Given the description of an element on the screen output the (x, y) to click on. 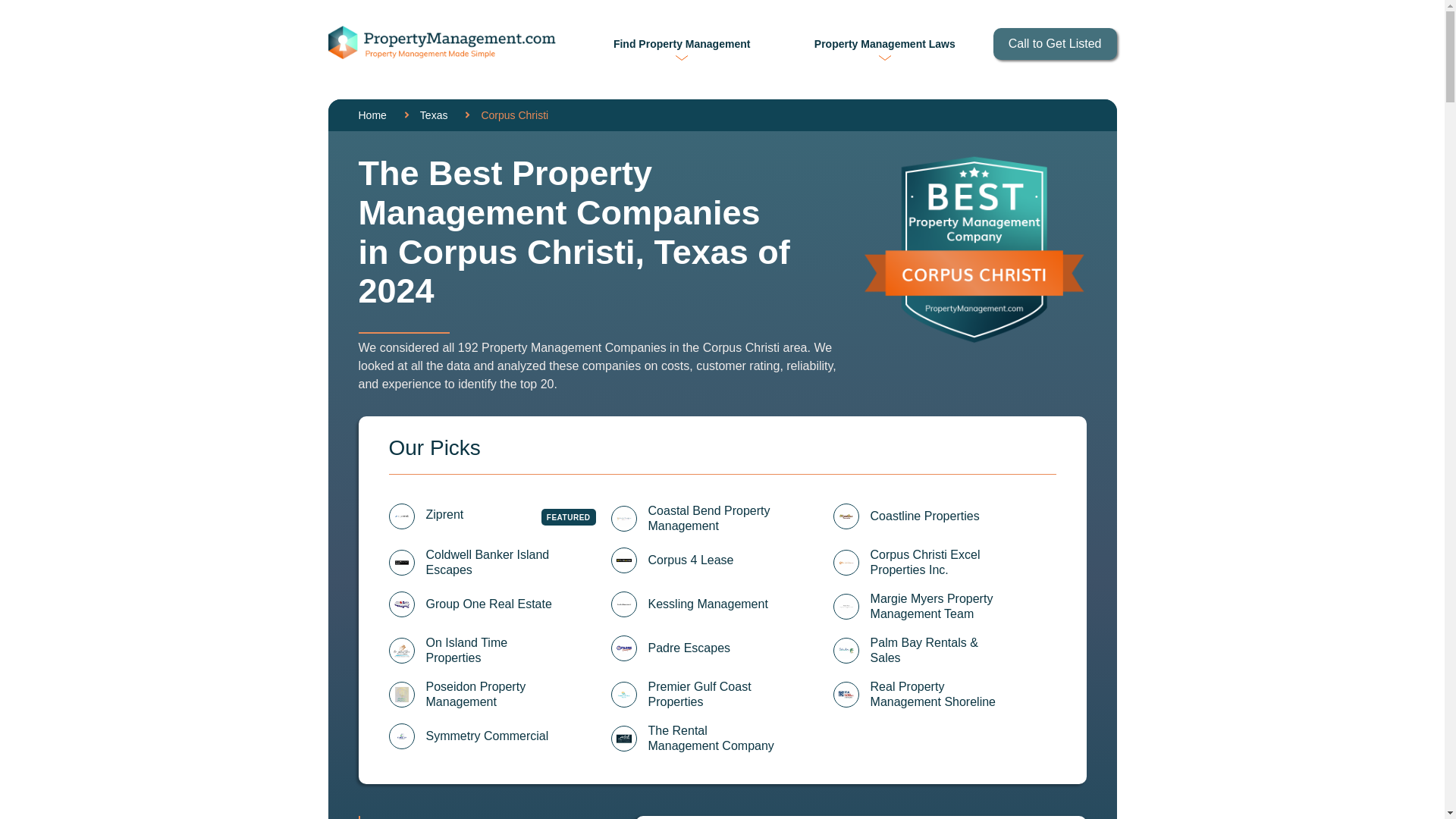
Find Property Management (680, 43)
